Given the description of an element on the screen output the (x, y) to click on. 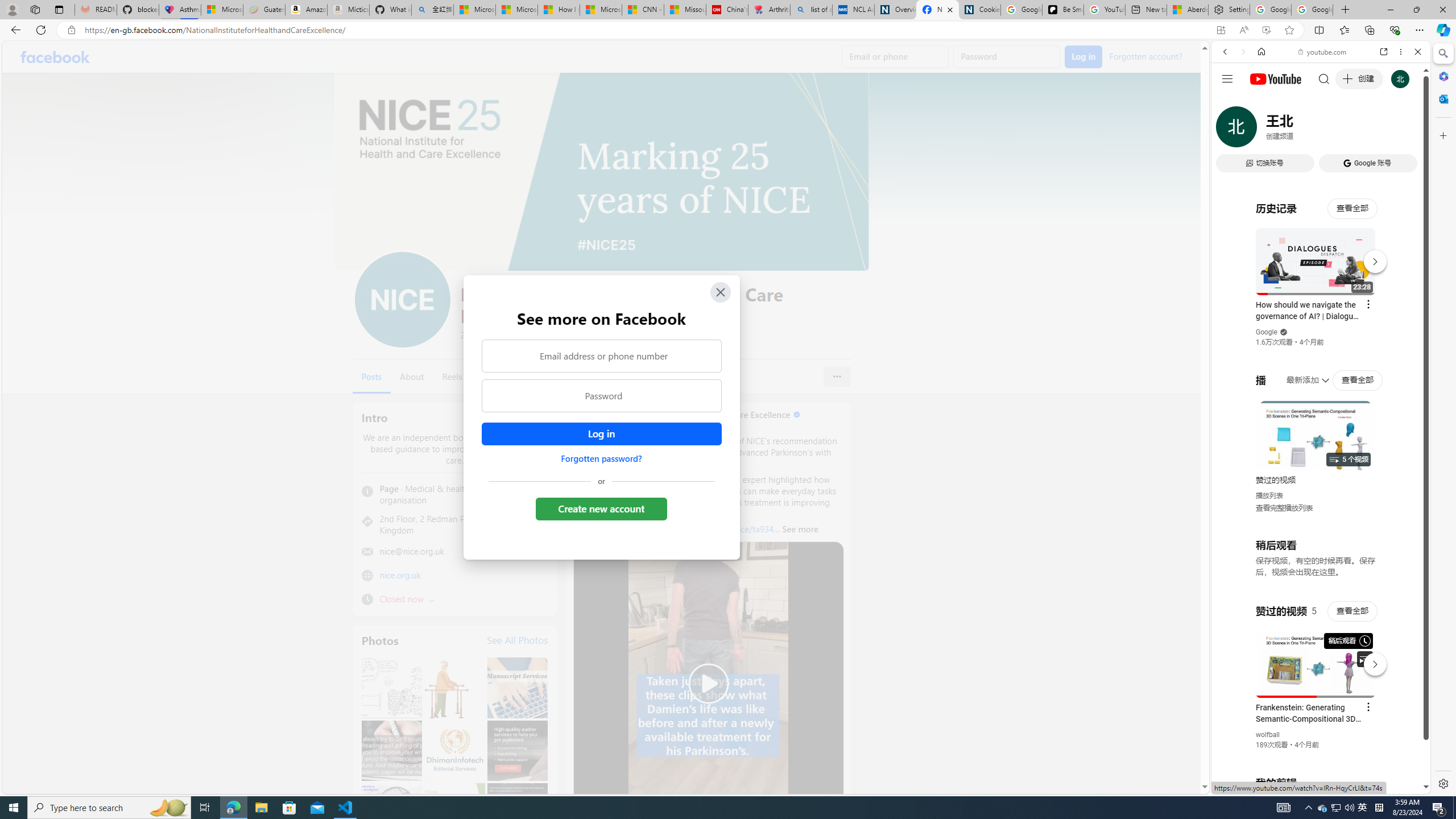
Google (1266, 331)
list of asthma inhalers uk - Search (810, 9)
Cookies (979, 9)
#you (1315, 659)
Search Filter, Search Tools (1350, 129)
Trailer #2 [HD] (1320, 337)
Search Filter, VIDEOS (1300, 129)
